Given the description of an element on the screen output the (x, y) to click on. 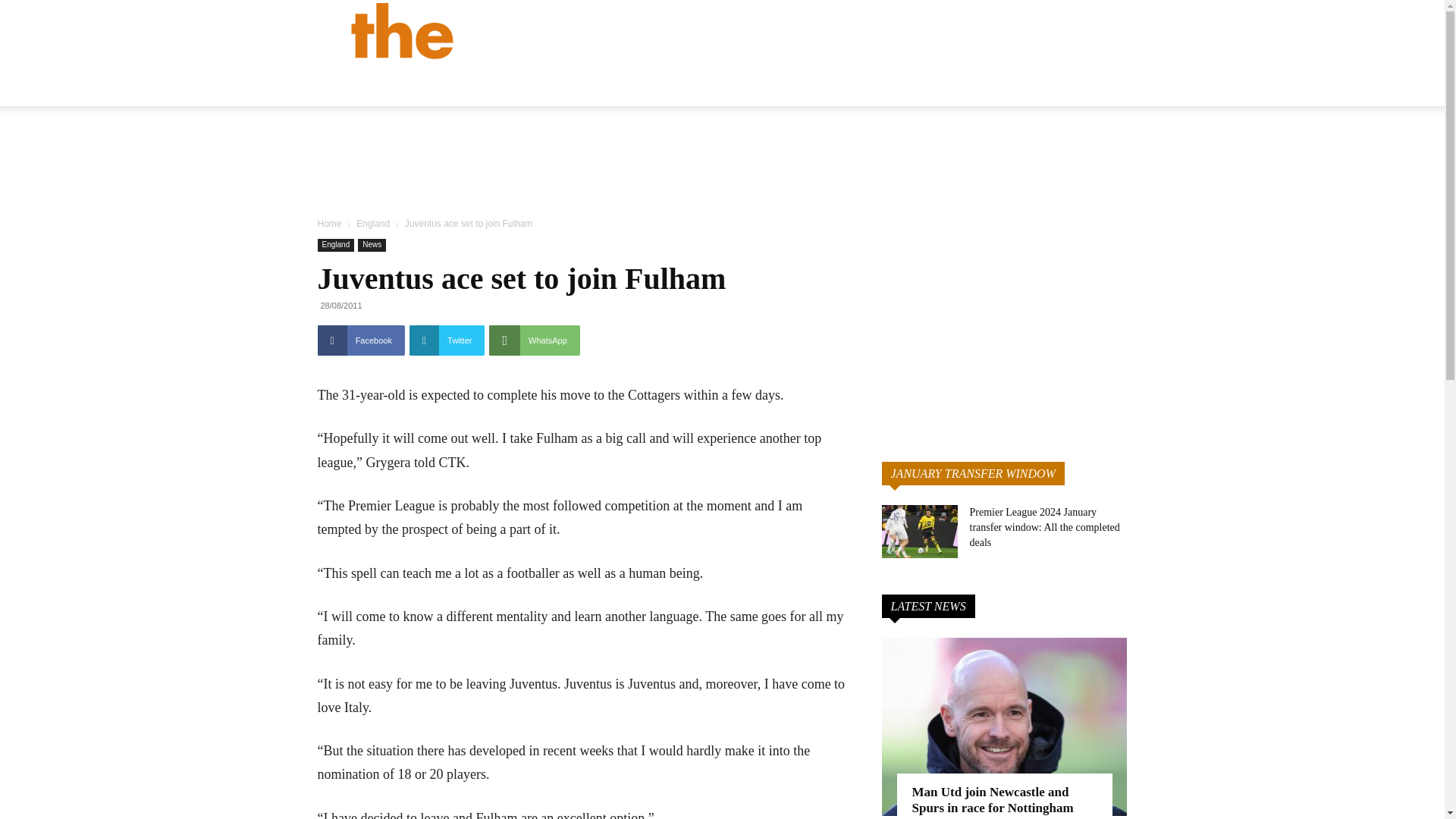
FOOTBALL PODCASTS (1099, 86)
WhatsApp (534, 340)
OPINION (822, 86)
England (373, 223)
WhatsApp (534, 340)
Home (328, 223)
Twitter (446, 340)
Twitter (446, 340)
England (335, 245)
Ontheminute.com (550, 30)
BETTING (982, 86)
News (371, 245)
View all posts in England (373, 223)
HOME (685, 86)
Twitter (1117, 30)
